Given the description of an element on the screen output the (x, y) to click on. 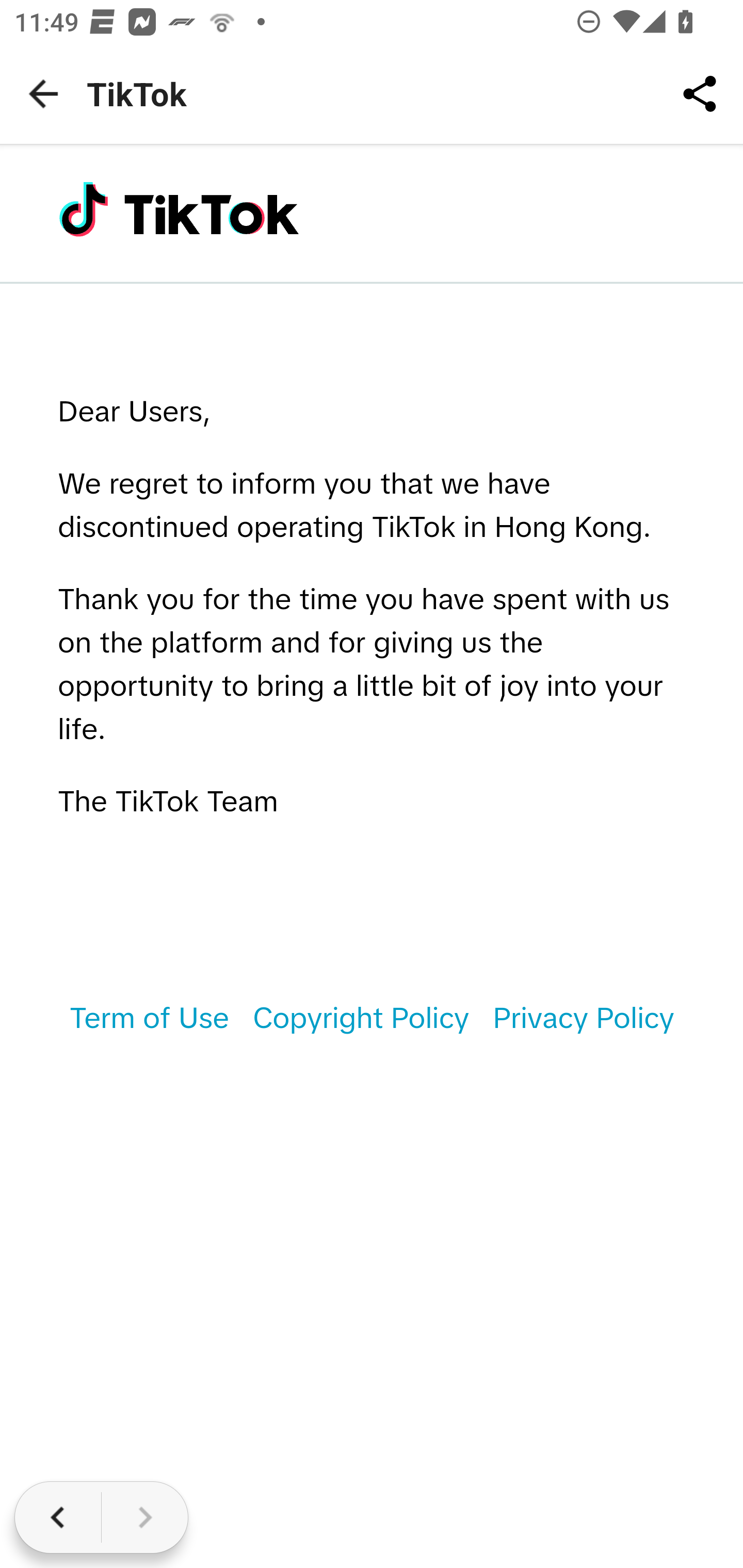
Term of Use (148, 1019)
Copyright Policy (360, 1019)
Privacy Policy (583, 1019)
